Given the description of an element on the screen output the (x, y) to click on. 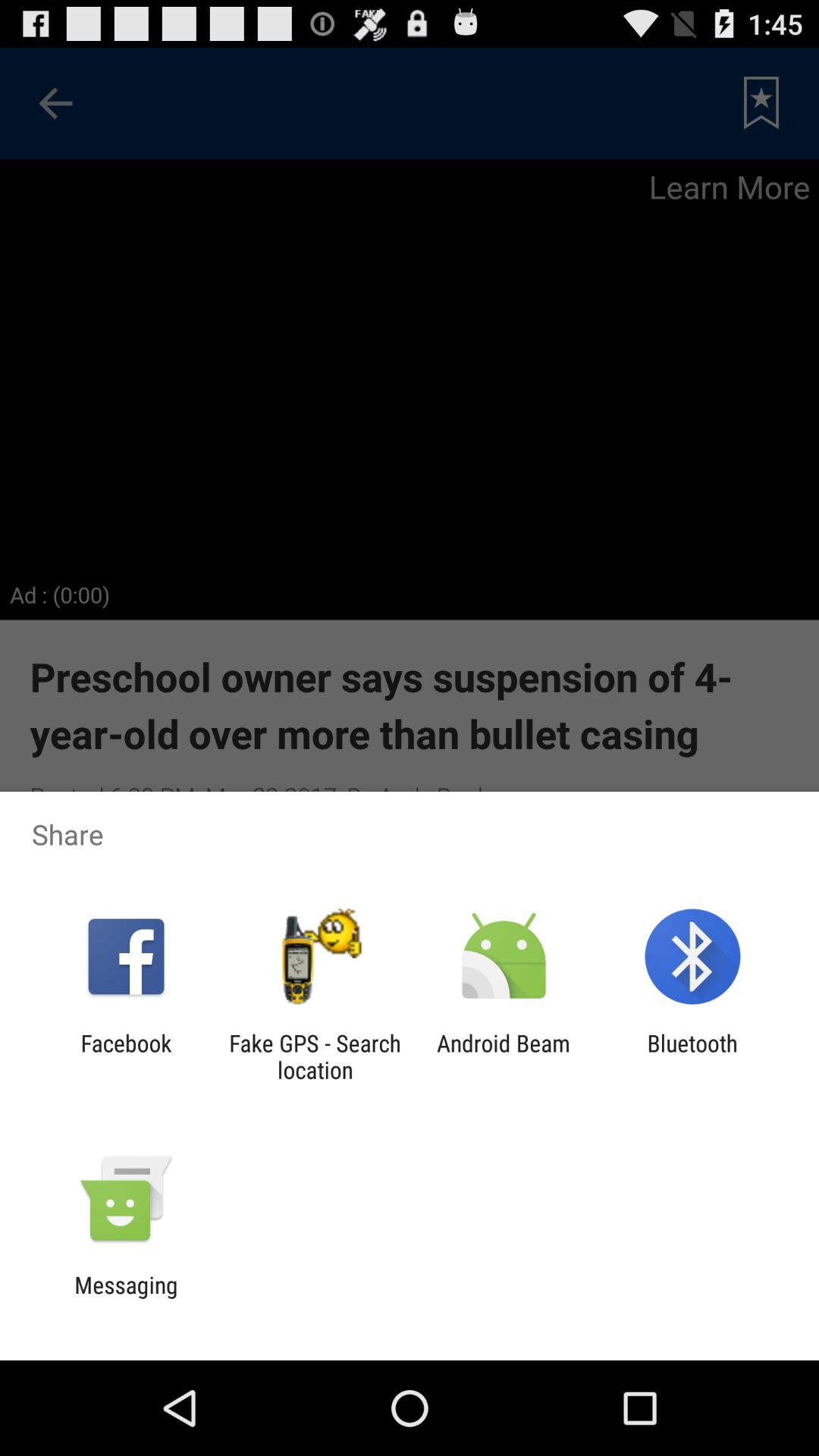
scroll to the android beam (503, 1056)
